Given the description of an element on the screen output the (x, y) to click on. 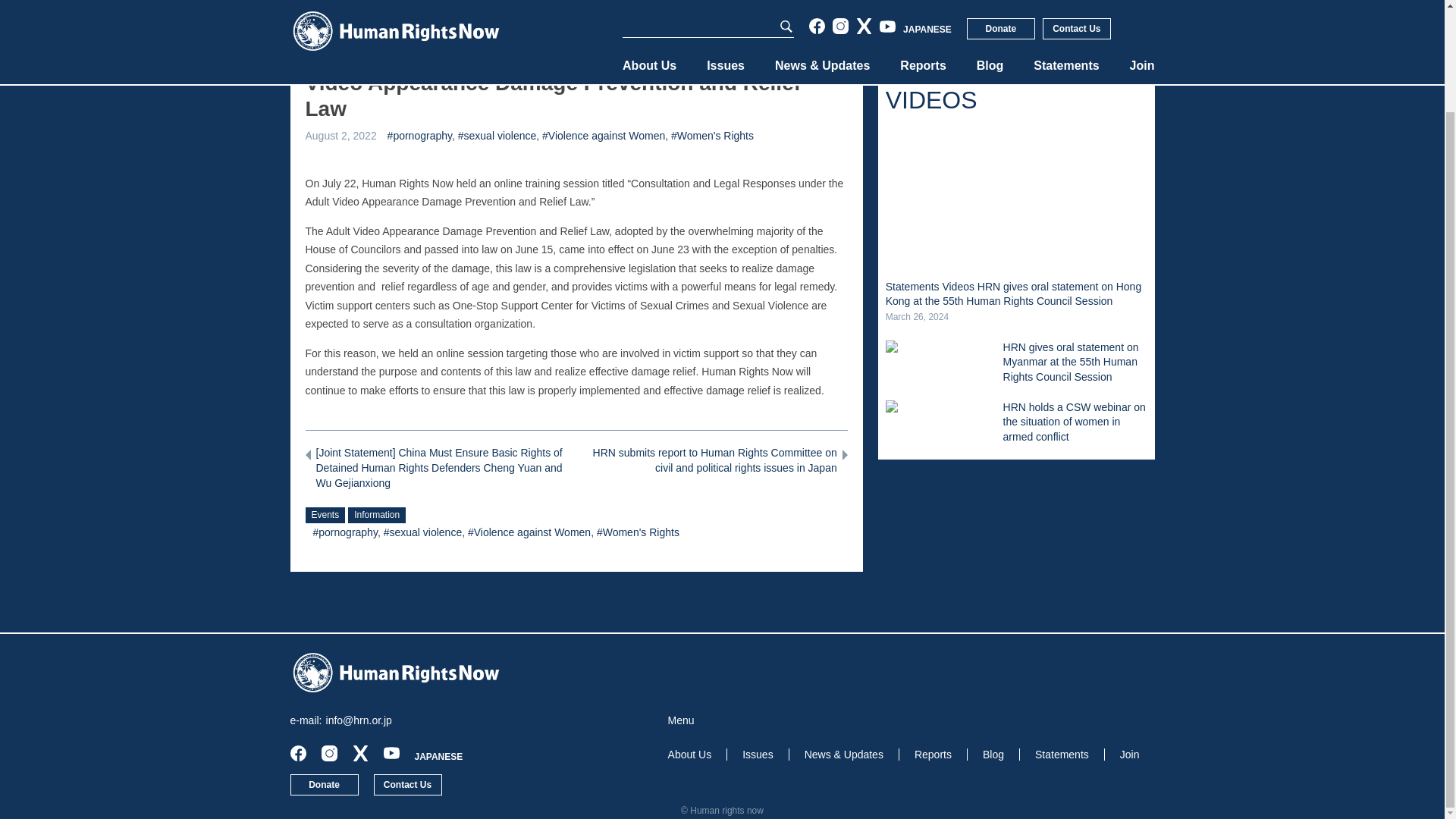
YouTube video player (1016, 198)
